Given the description of an element on the screen output the (x, y) to click on. 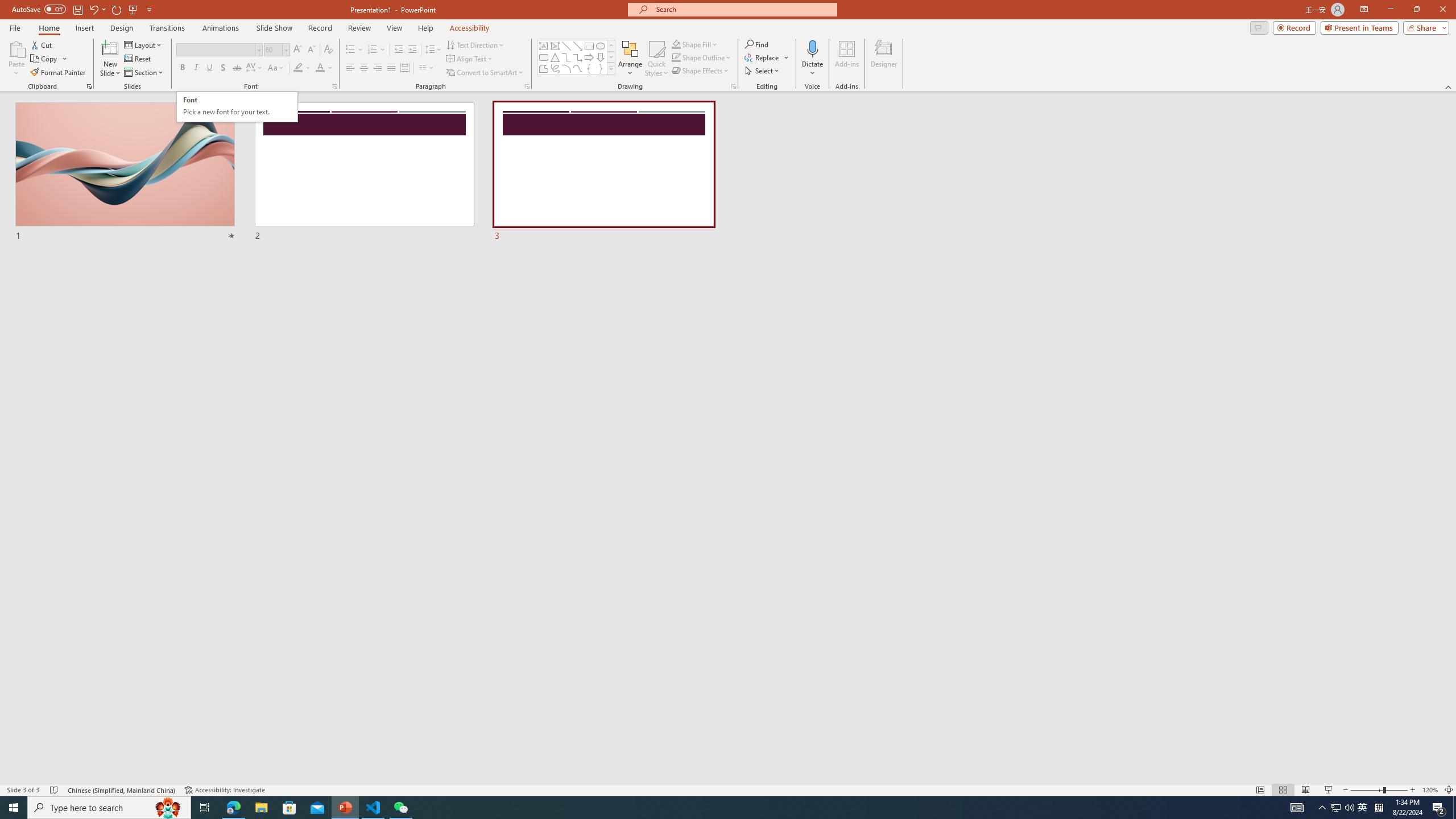
Zoom 120% (1430, 790)
